Given the description of an element on the screen output the (x, y) to click on. 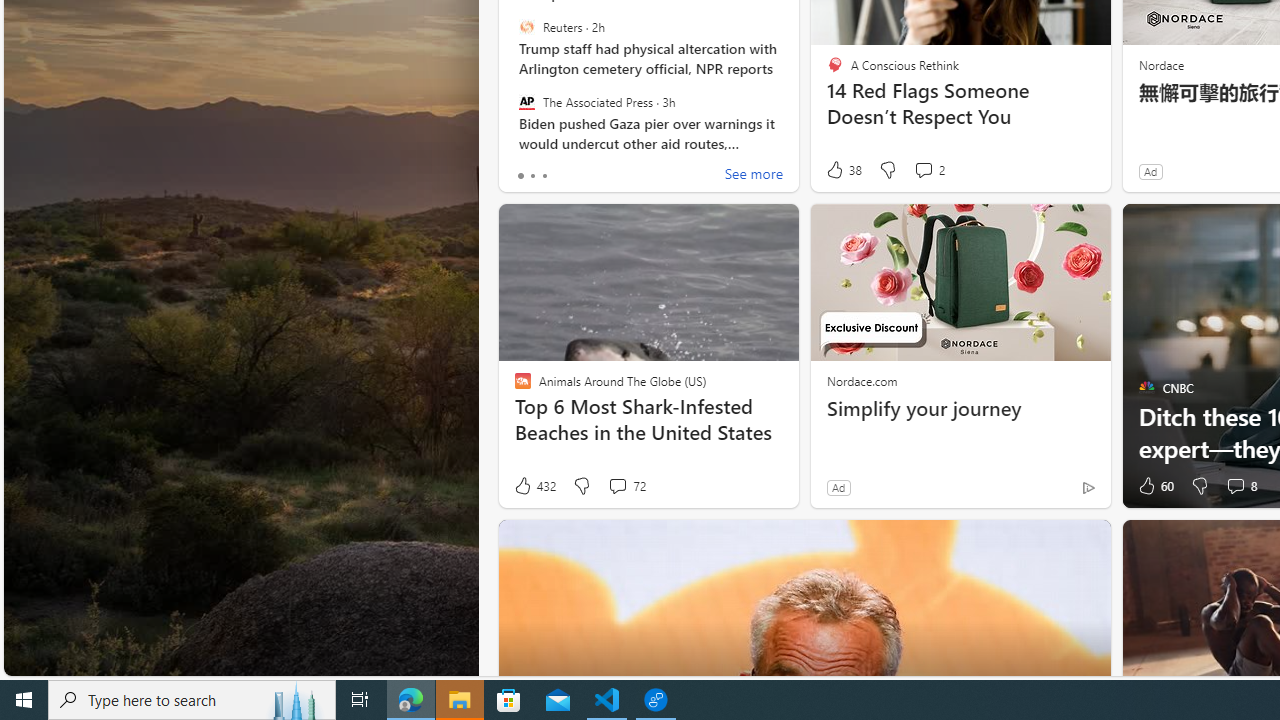
View comments 8 Comment (1240, 485)
View comments 72 Comment (617, 485)
tab-1 (532, 175)
tab-0 (520, 175)
View comments 8 Comment (1234, 485)
The Associated Press (526, 101)
Simplify your journey (959, 408)
